Given the description of an element on the screen output the (x, y) to click on. 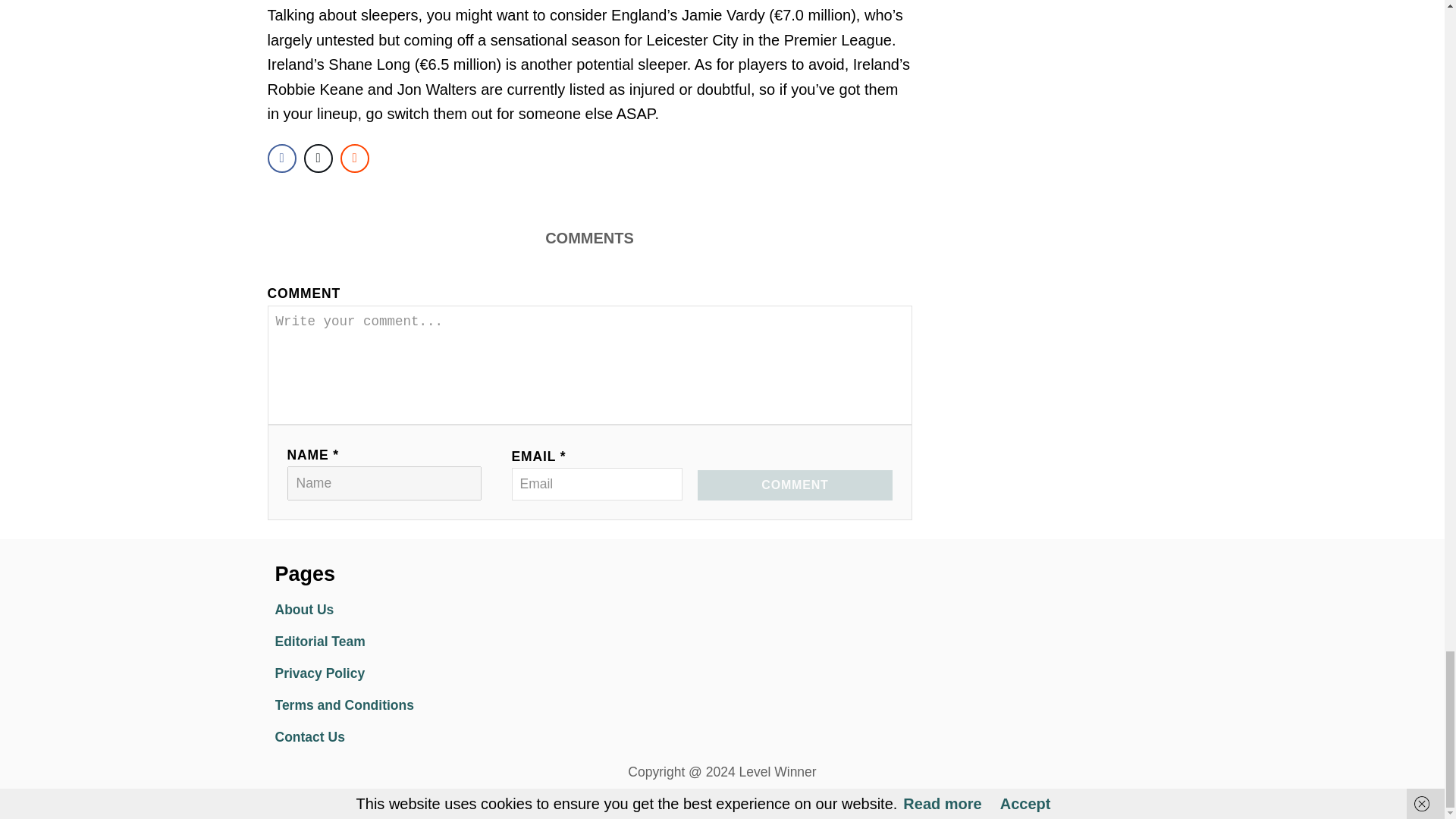
Terms and Conditions (406, 705)
Editorial Team (406, 642)
About Us (406, 610)
Privacy Policy (406, 674)
Contact Us (406, 737)
COMMENT (794, 485)
